Given the description of an element on the screen output the (x, y) to click on. 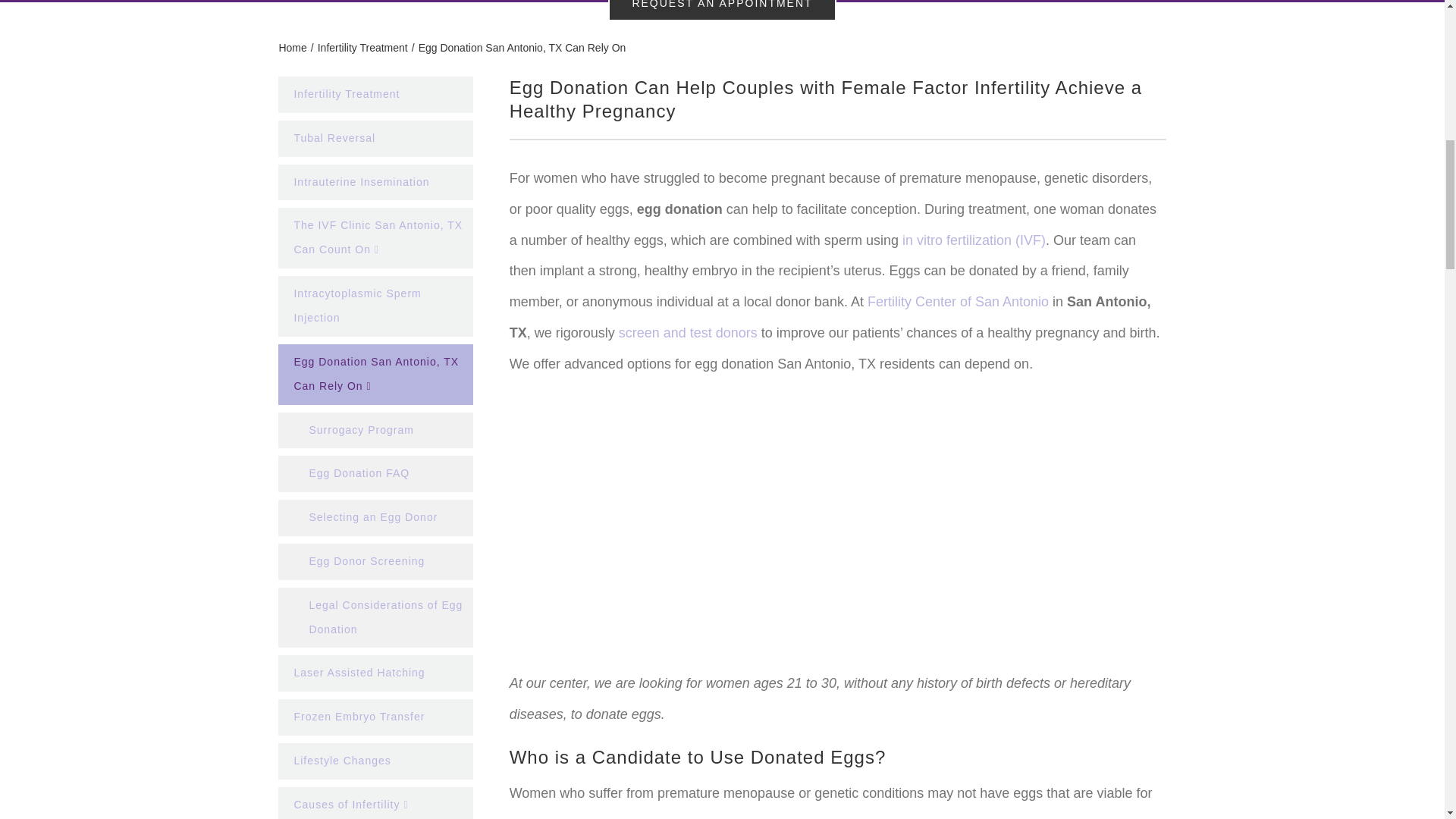
Vimeo video player 1 (837, 531)
Back to Parent Page (374, 98)
